Given the description of an element on the screen output the (x, y) to click on. 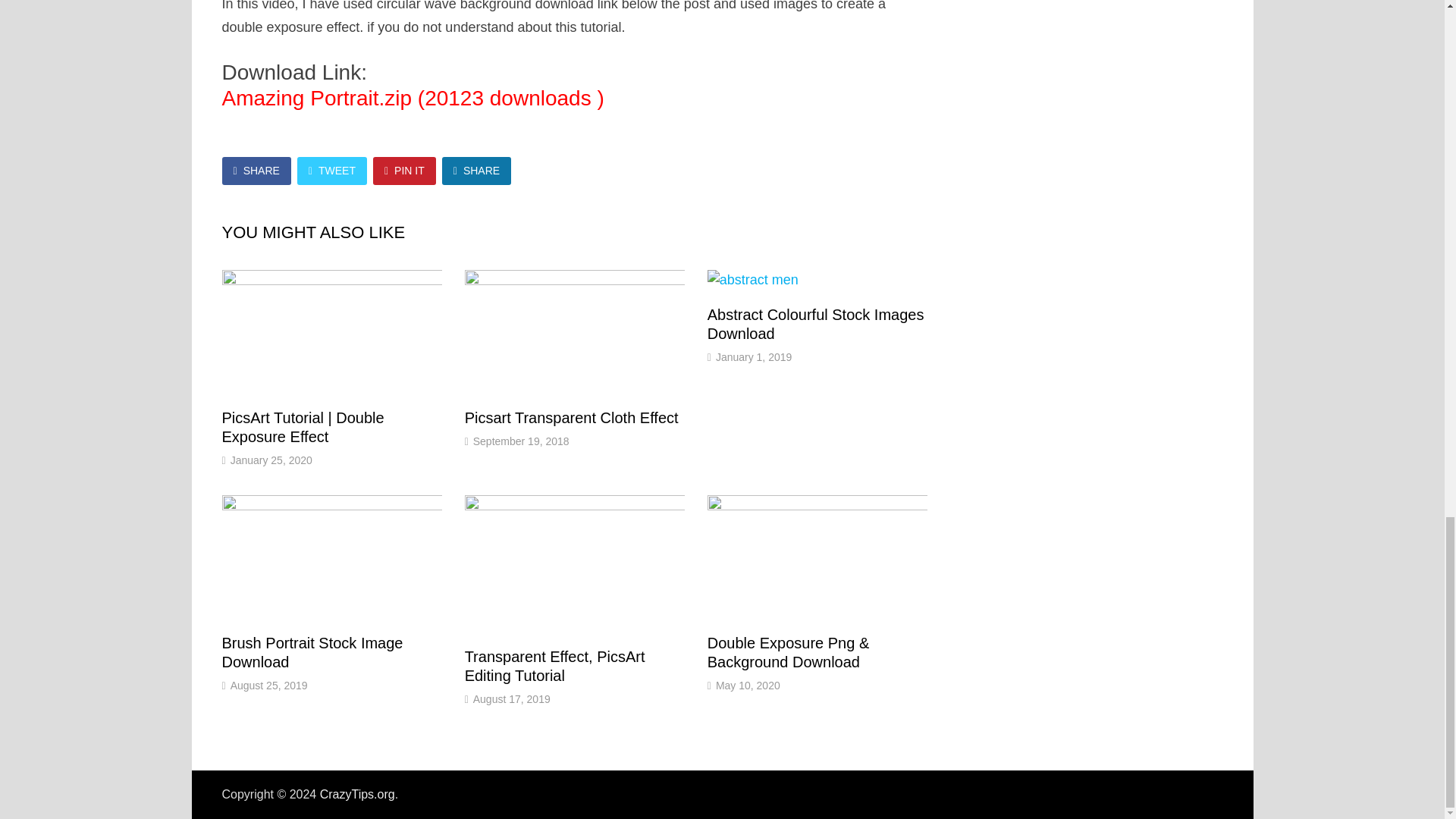
PIN IT (403, 171)
May 10, 2020 (748, 685)
Picsart Transparent Cloth Effect (571, 417)
Abstract Colourful Stock Images Download (815, 324)
Brush Portrait Stock Image Download (312, 652)
Transparent Effect, PicsArt Editing Tutorial (554, 665)
January 1, 2019 (754, 357)
January 25, 2020 (271, 460)
August 25, 2019 (268, 685)
September 19, 2018 (521, 440)
